Given the description of an element on the screen output the (x, y) to click on. 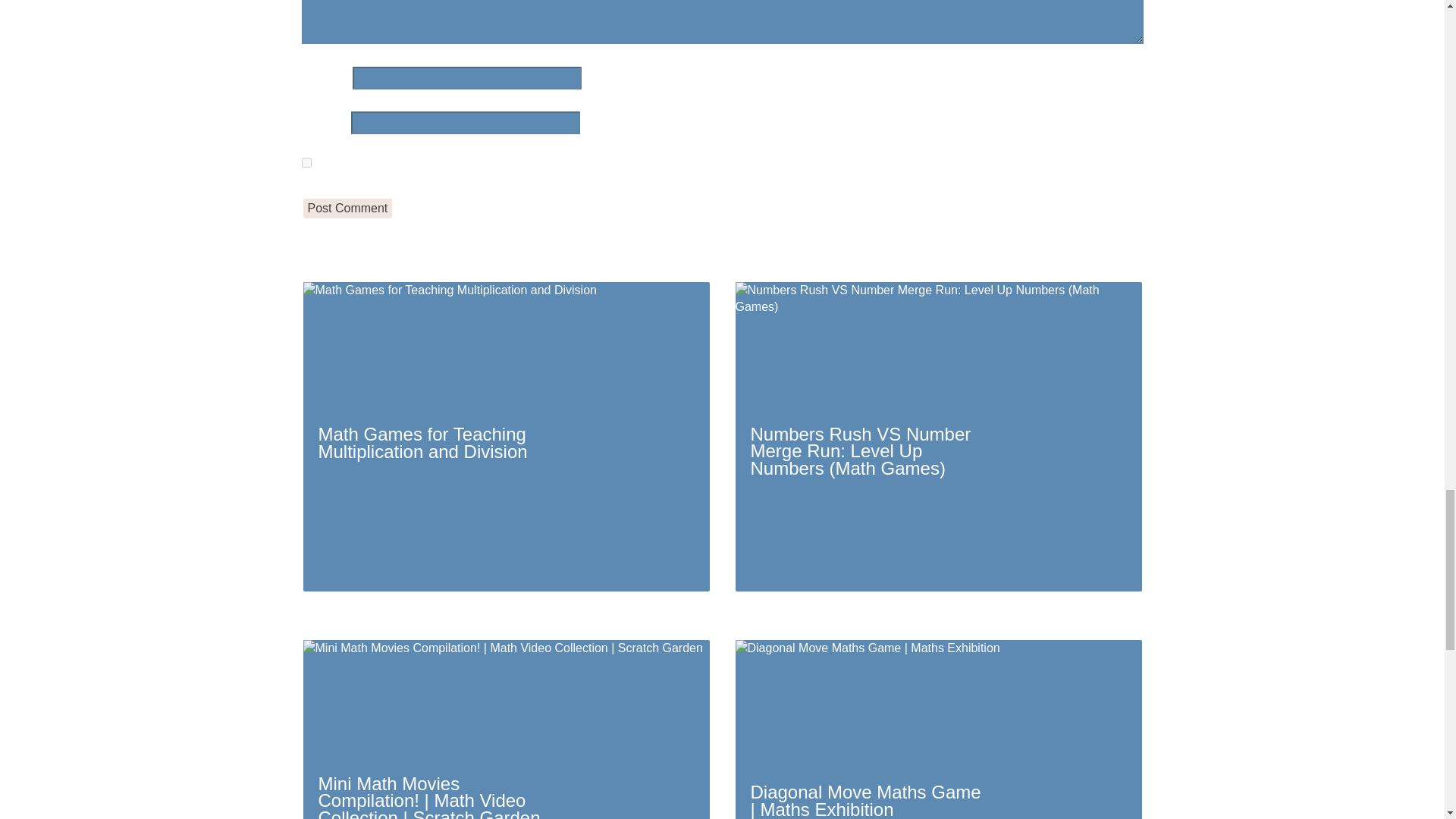
yes (306, 162)
Math Games for Teaching Multiplication and Division (506, 436)
Post Comment (347, 208)
Post Comment (347, 208)
